Given the description of an element on the screen output the (x, y) to click on. 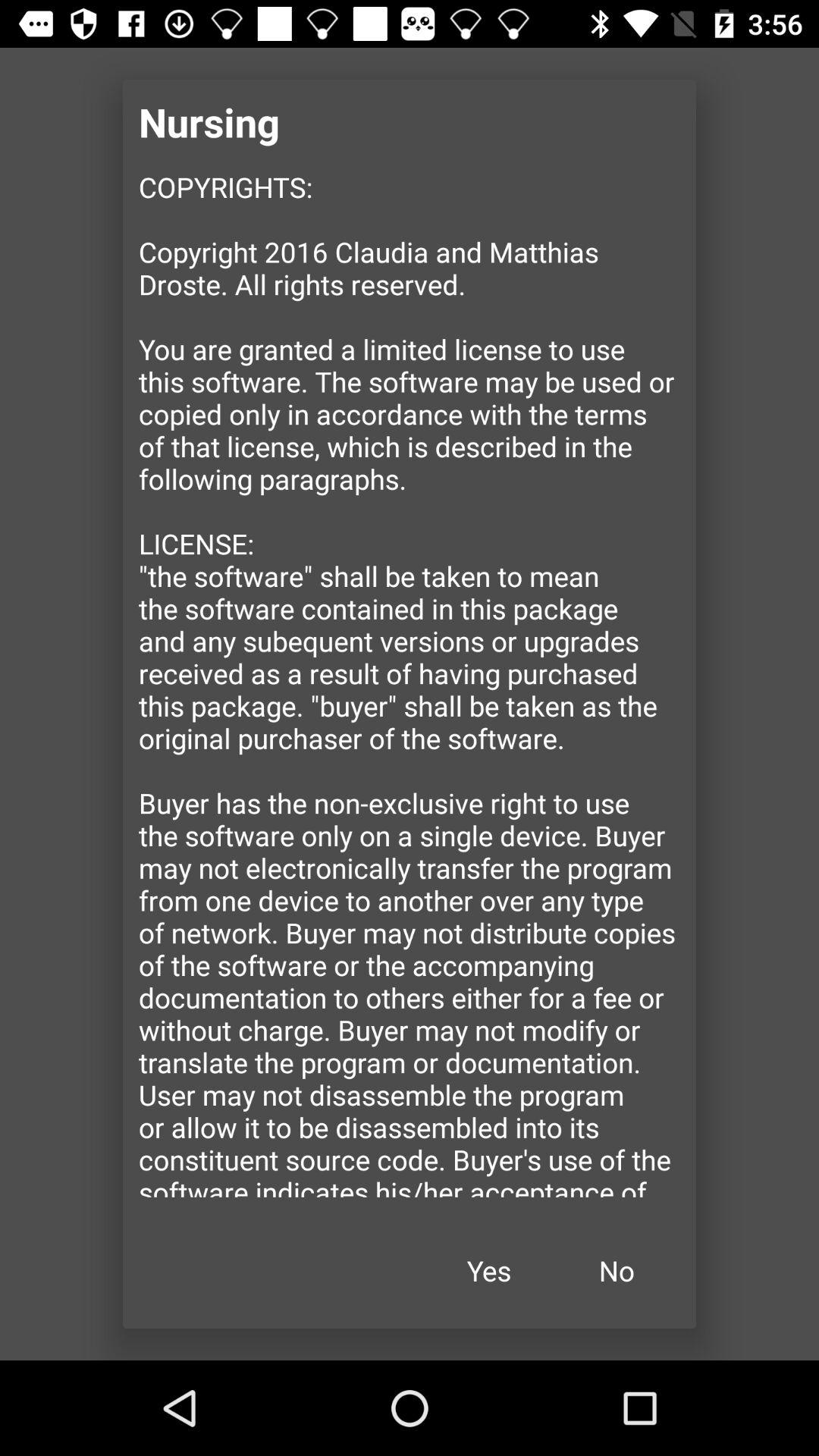
tap item next to no (488, 1270)
